Given the description of an element on the screen output the (x, y) to click on. 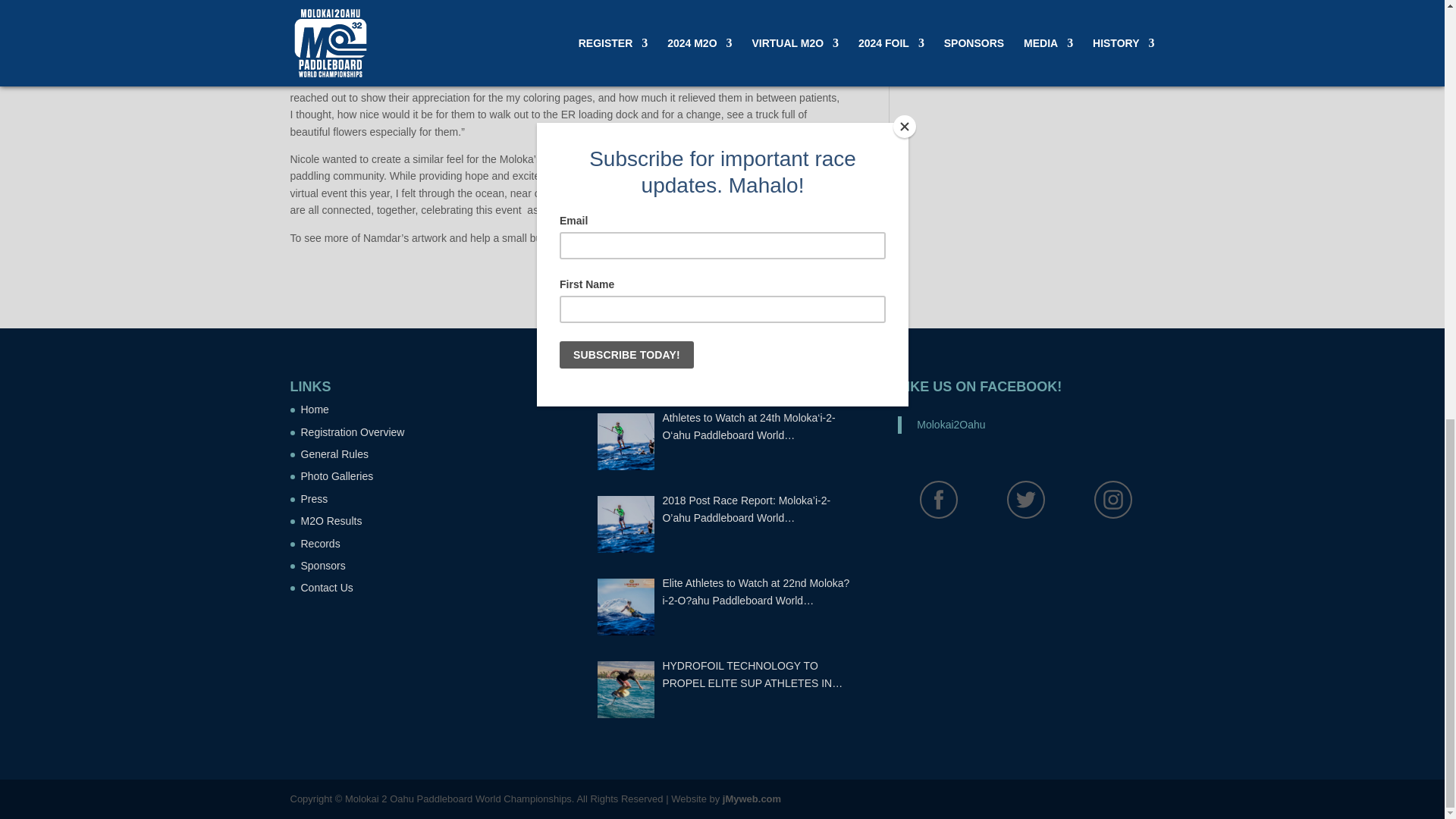
Instagram Icon (1112, 499)
Facebook Icon (938, 499)
Twitter Icon (1025, 499)
